Given the description of an element on the screen output the (x, y) to click on. 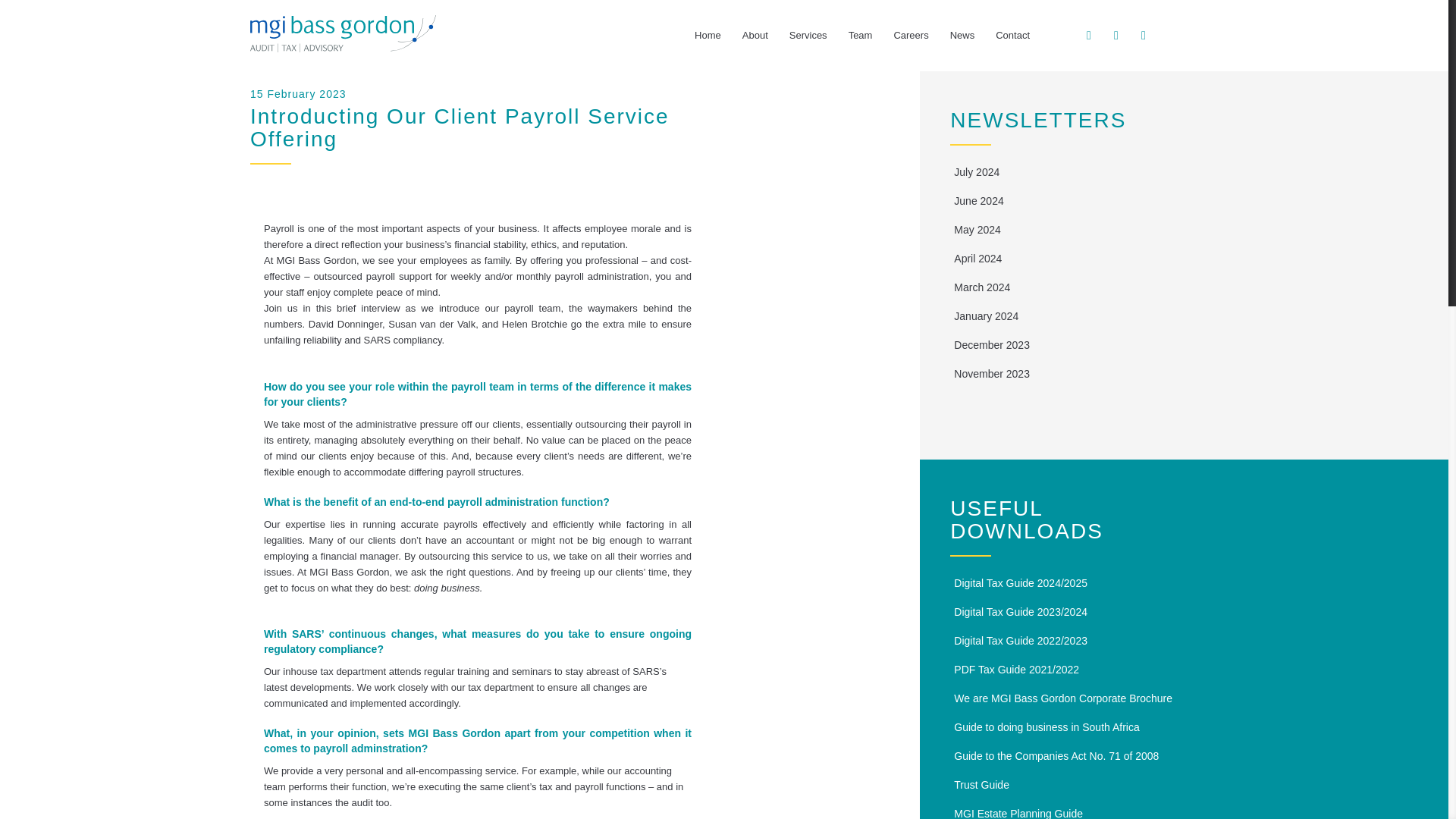
MGI Estate Planning Guide (1018, 813)
About (755, 34)
We are MGI Bass Gordon Corporate Brochure (1062, 698)
January 2024 (985, 316)
March 2024 (981, 287)
Guide to the Companies Act No. 71 of 2008 (1055, 756)
Careers (910, 34)
Contact (1013, 34)
Home (708, 34)
November 2023 (991, 373)
News (962, 34)
July 2024 (975, 172)
December 2023 (991, 345)
Guide to doing business in South Africa (1045, 727)
Trust Guide (981, 784)
